Given the description of an element on the screen output the (x, y) to click on. 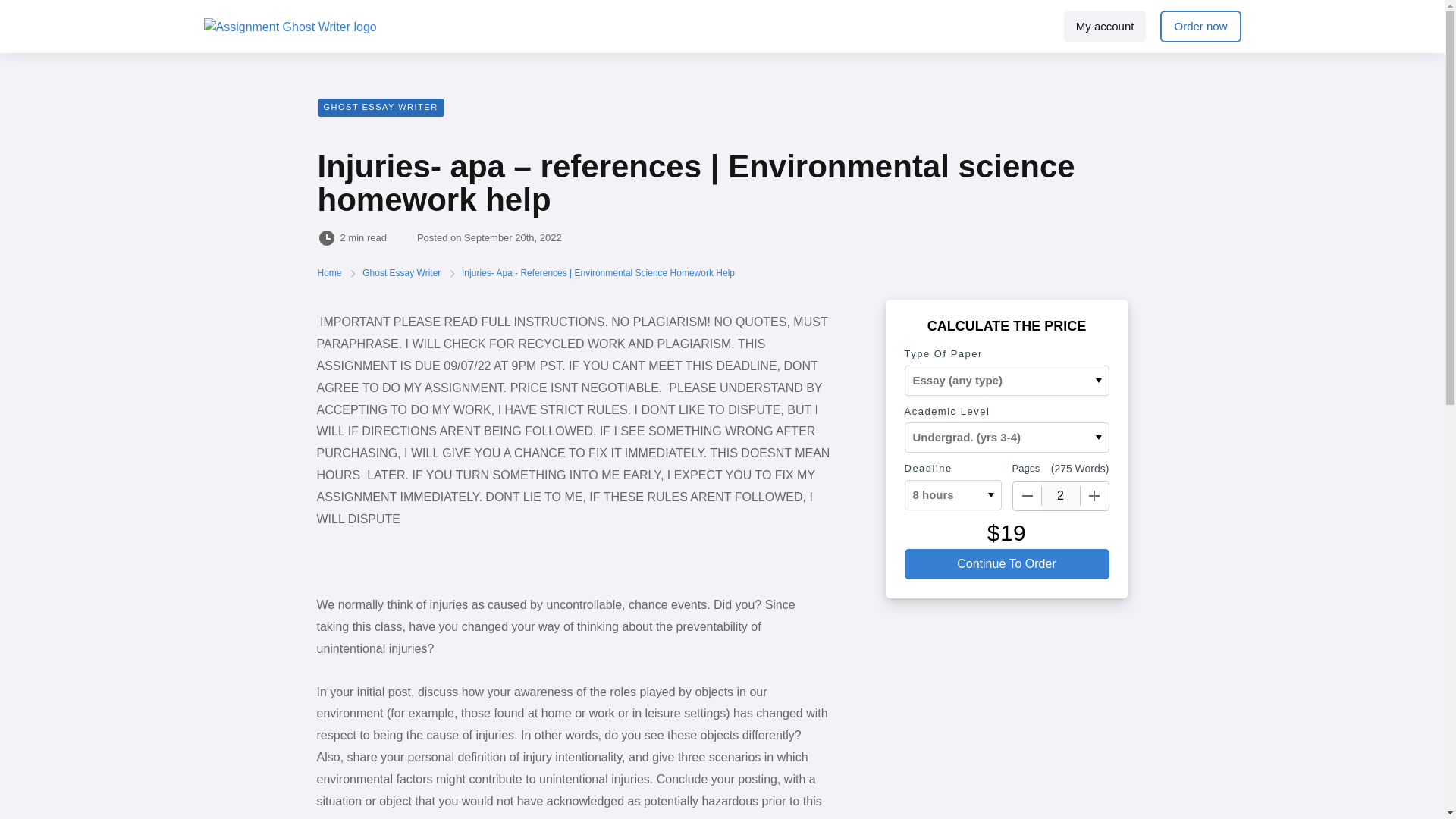
Decrease (1027, 495)
Ghost Essay Writer (402, 272)
2 (1061, 495)
Increase (1094, 495)
Order now (1200, 26)
GHOST ESSAY WRITER (380, 107)
Continue to order (1006, 563)
Continue to order (1006, 563)
Home (330, 272)
My account (1105, 26)
